Given the description of an element on the screen output the (x, y) to click on. 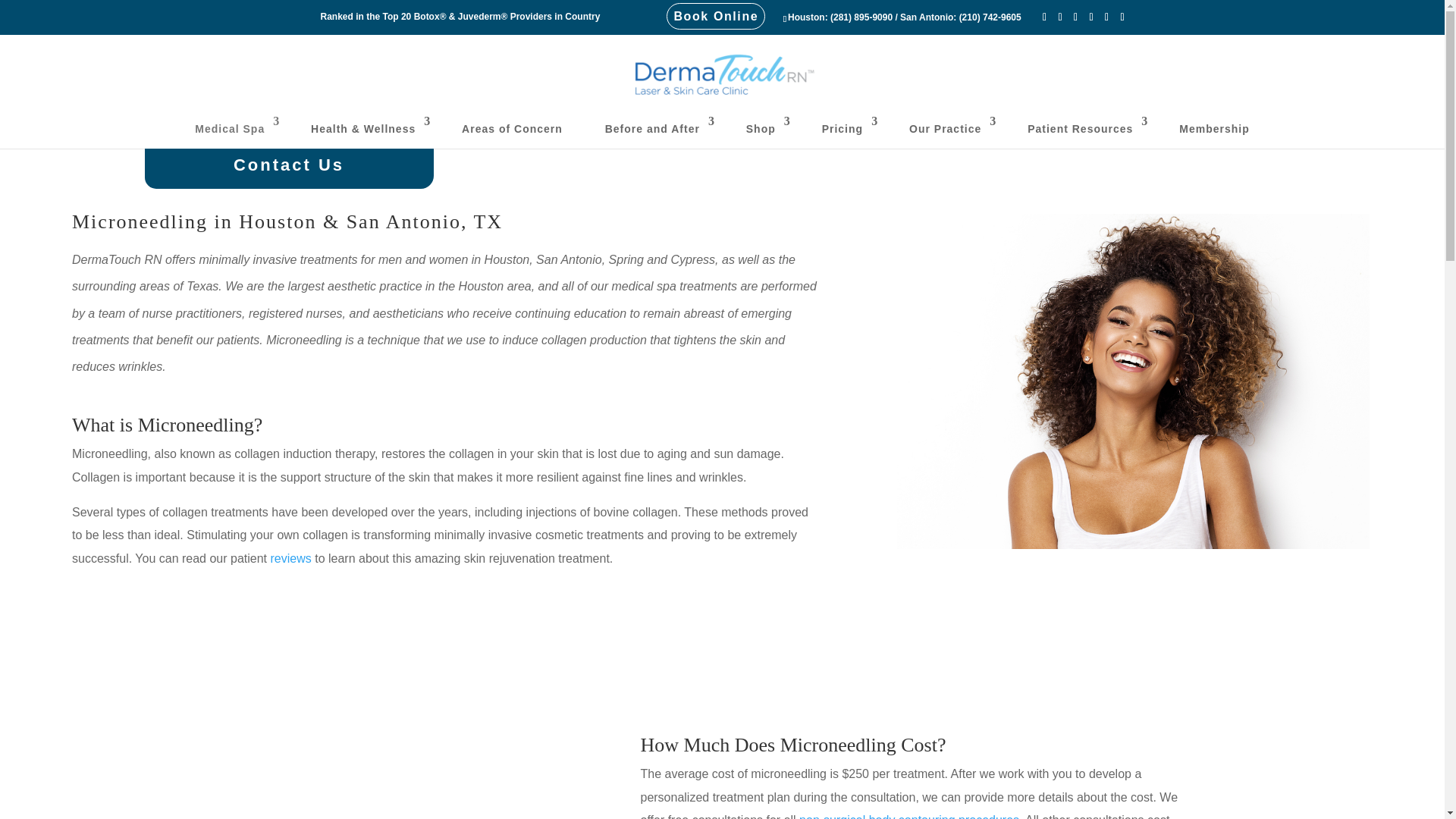
Book Online (715, 16)
Medical Spa (231, 132)
